Given the description of an element on the screen output the (x, y) to click on. 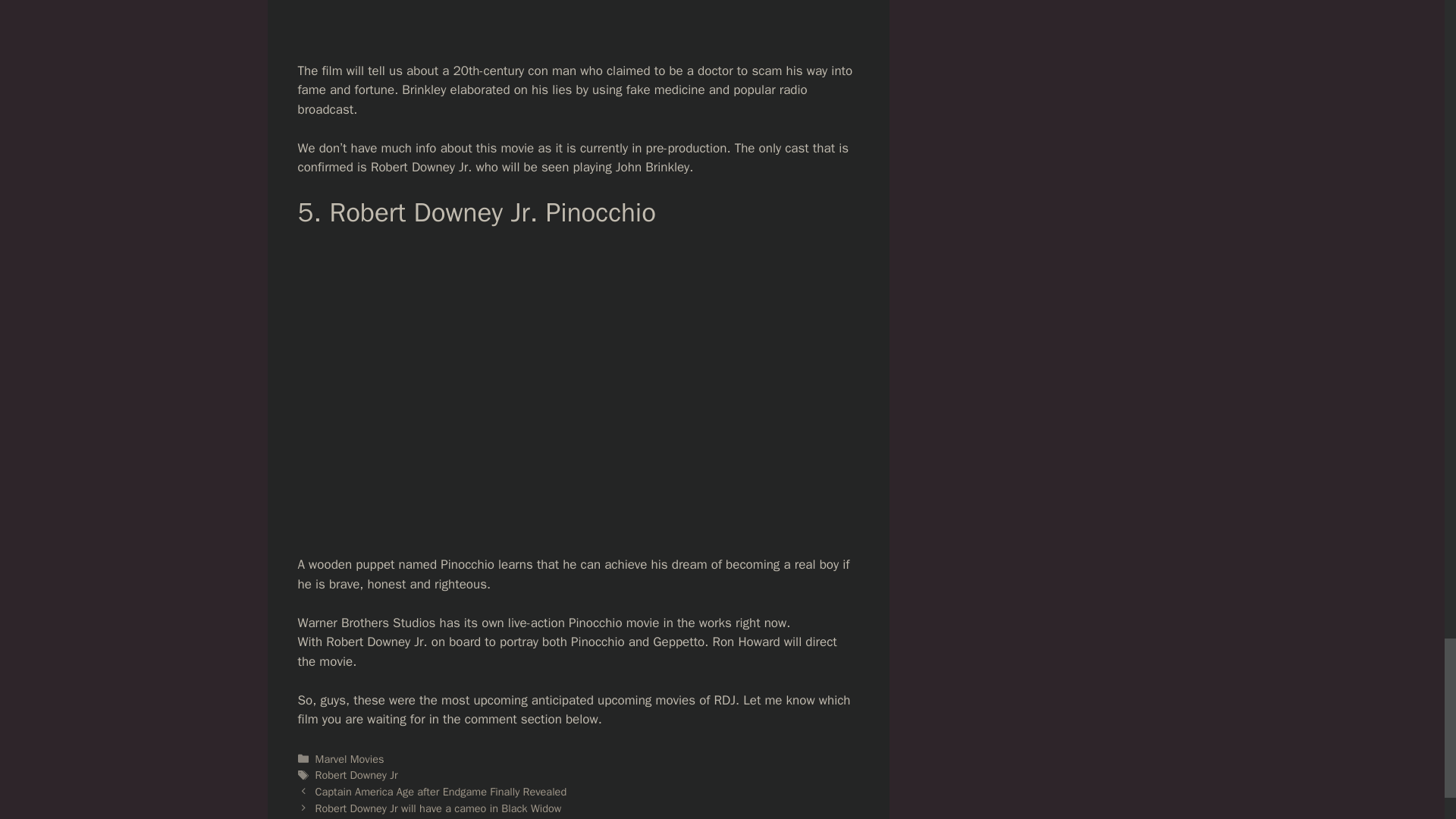
Marvel Movies (349, 758)
Captain America Age after Endgame Finally Revealed (441, 791)
Robert Downey Jr (356, 775)
Previous (441, 791)
Next (438, 807)
Robert Downey Jr will have a cameo in Black Widow (438, 807)
